Given the description of an element on the screen output the (x, y) to click on. 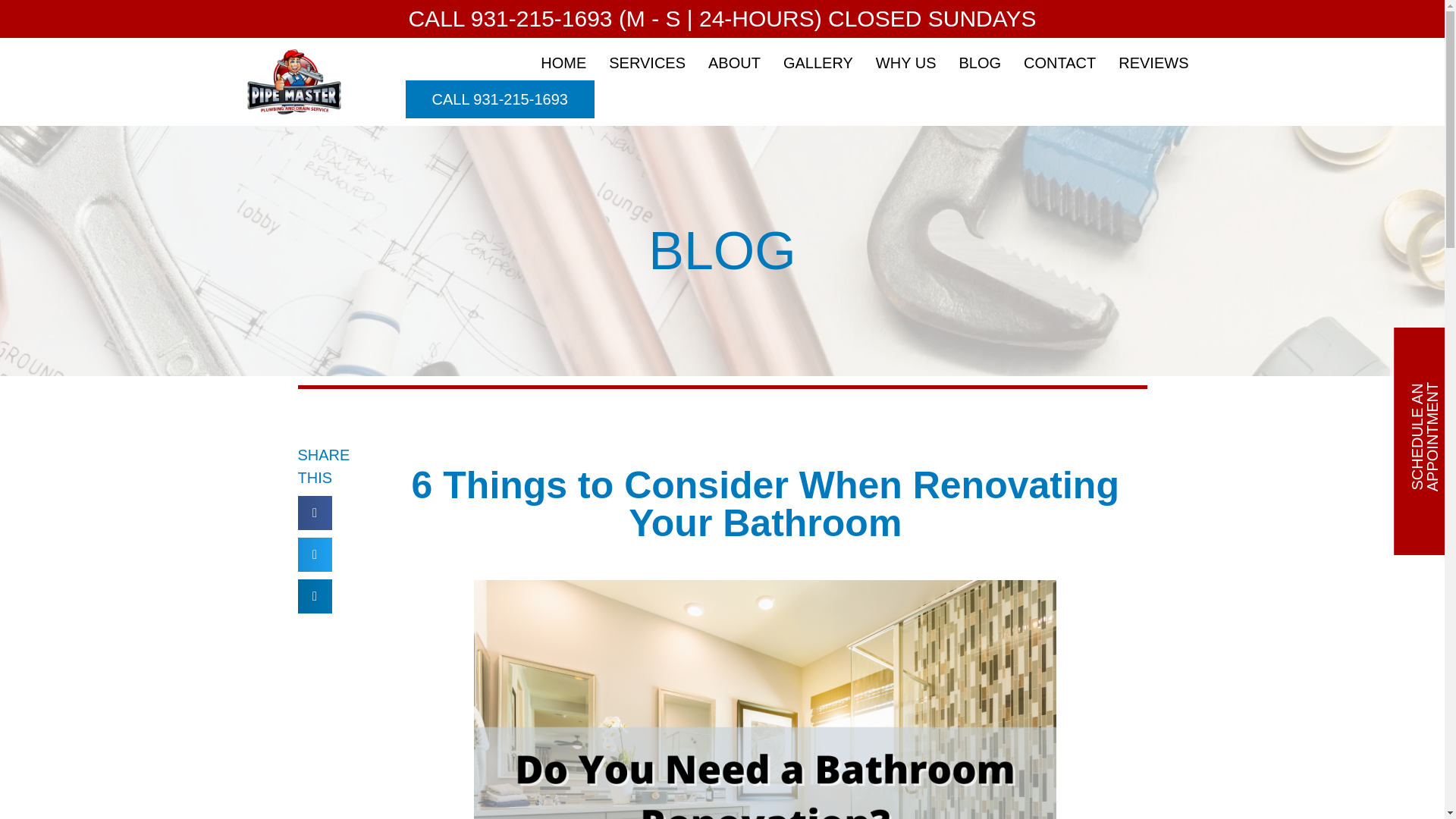
HOME (562, 62)
BLOG (979, 62)
SERVICES (646, 62)
ABOUT (734, 62)
GALLERY (817, 62)
WHY US (905, 62)
CONTACT (1058, 62)
REVIEWS (1152, 62)
